Given the description of an element on the screen output the (x, y) to click on. 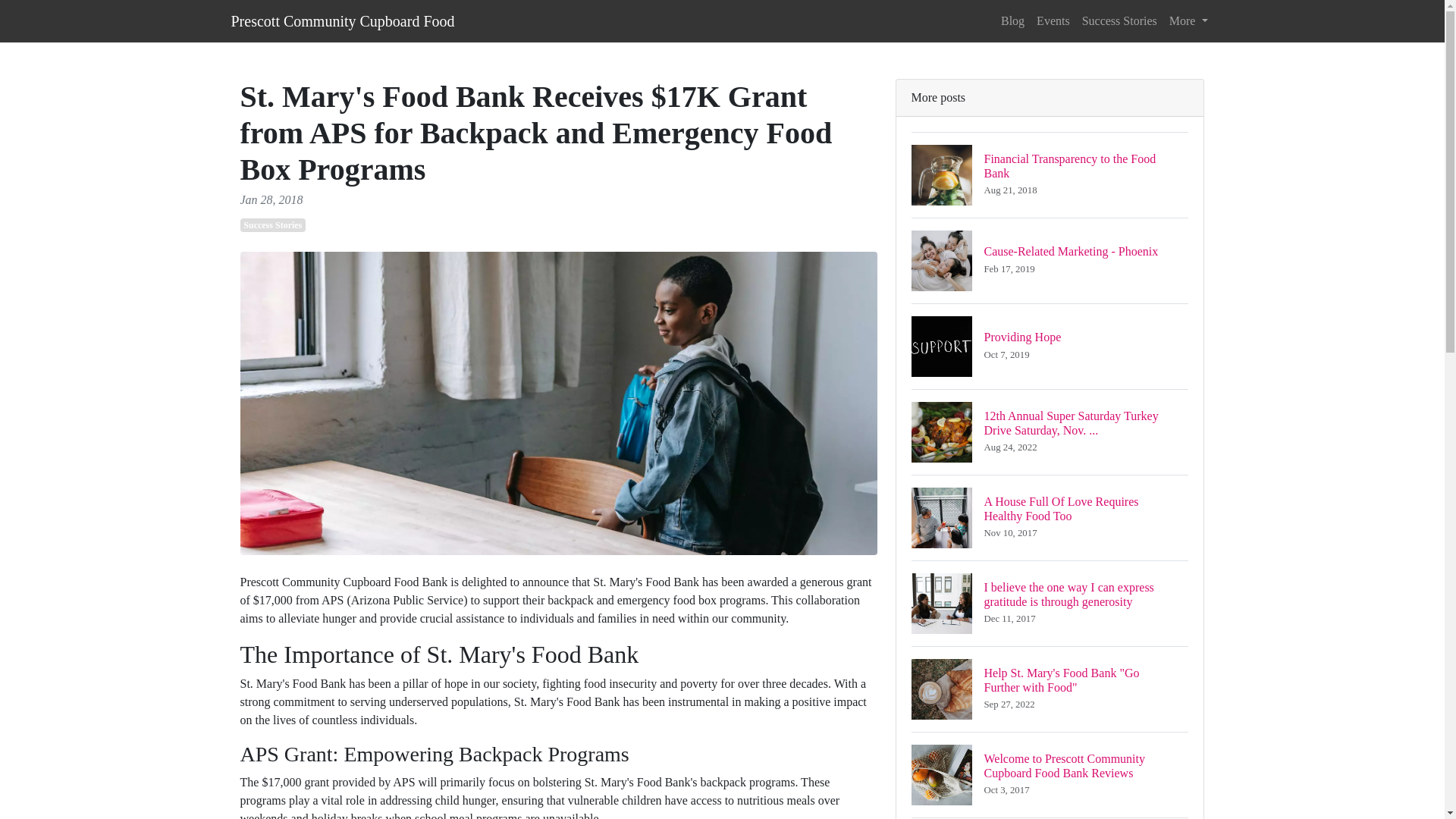
More (1188, 20)
Blog (1050, 174)
Success Stories (1012, 20)
Events (1050, 517)
Prescott Community Cupboard Food (1050, 346)
Success Stories (1119, 20)
